Given the description of an element on the screen output the (x, y) to click on. 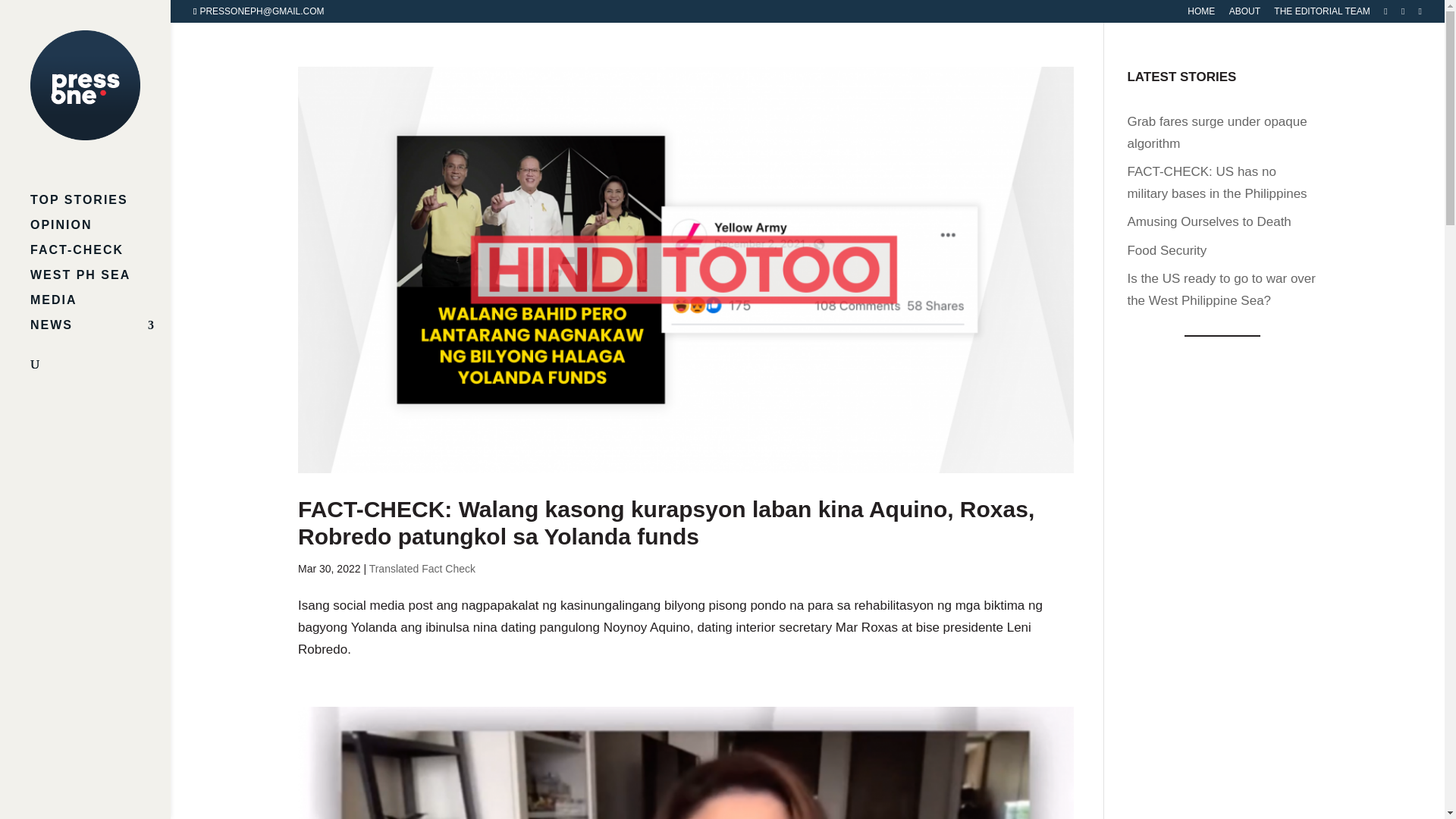
OPINION (100, 232)
THE EDITORIAL TEAM (1322, 14)
NEWS (100, 332)
WEST PH SEA (100, 282)
ABOUT (1244, 14)
HOME (1201, 14)
MEDIA (100, 307)
FACT-CHECK (100, 257)
TOP STORIES (100, 207)
Advertisement (1221, 586)
